Given the description of an element on the screen output the (x, y) to click on. 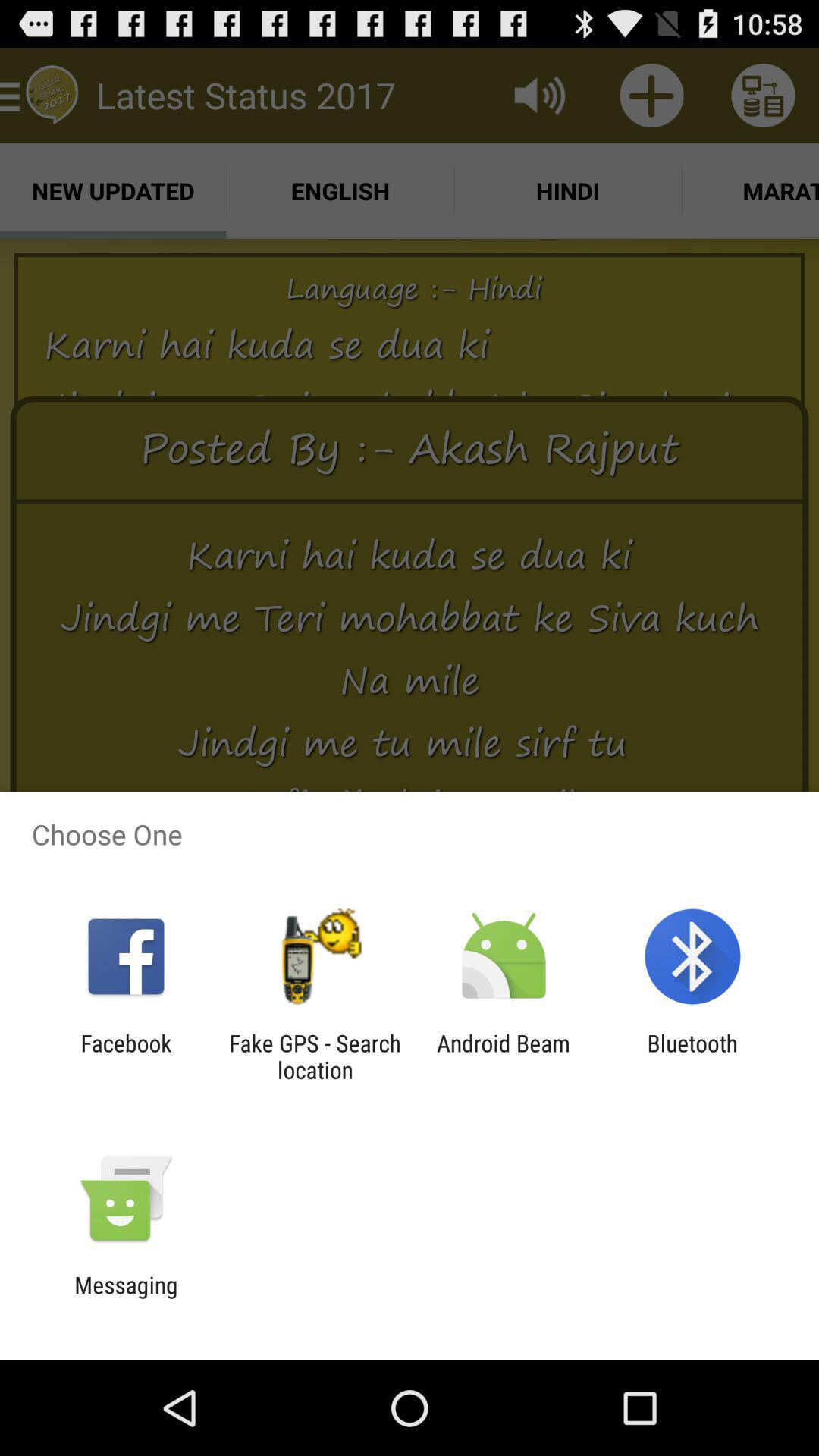
press the app next to the android beam (692, 1056)
